Given the description of an element on the screen output the (x, y) to click on. 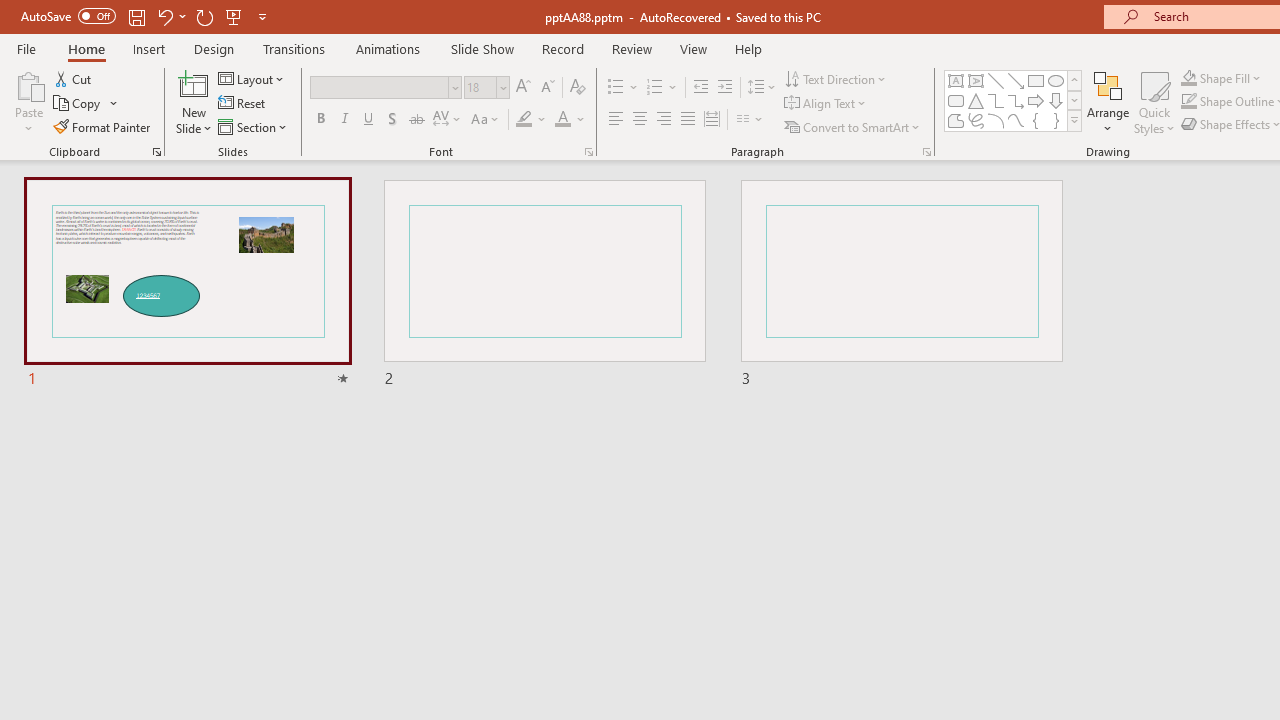
Font Color Red (562, 119)
Quick Styles (1154, 102)
Font Color (569, 119)
Font Size (486, 87)
Arrow: Right (1035, 100)
Columns (750, 119)
Strikethrough (416, 119)
Increase Font Size (522, 87)
Slide Show (481, 48)
Align Text (826, 103)
Arrow: Down (1055, 100)
Home (86, 48)
Class: NetUIImage (1075, 120)
Connector: Elbow (995, 100)
New Slide (193, 102)
